Given the description of an element on the screen output the (x, y) to click on. 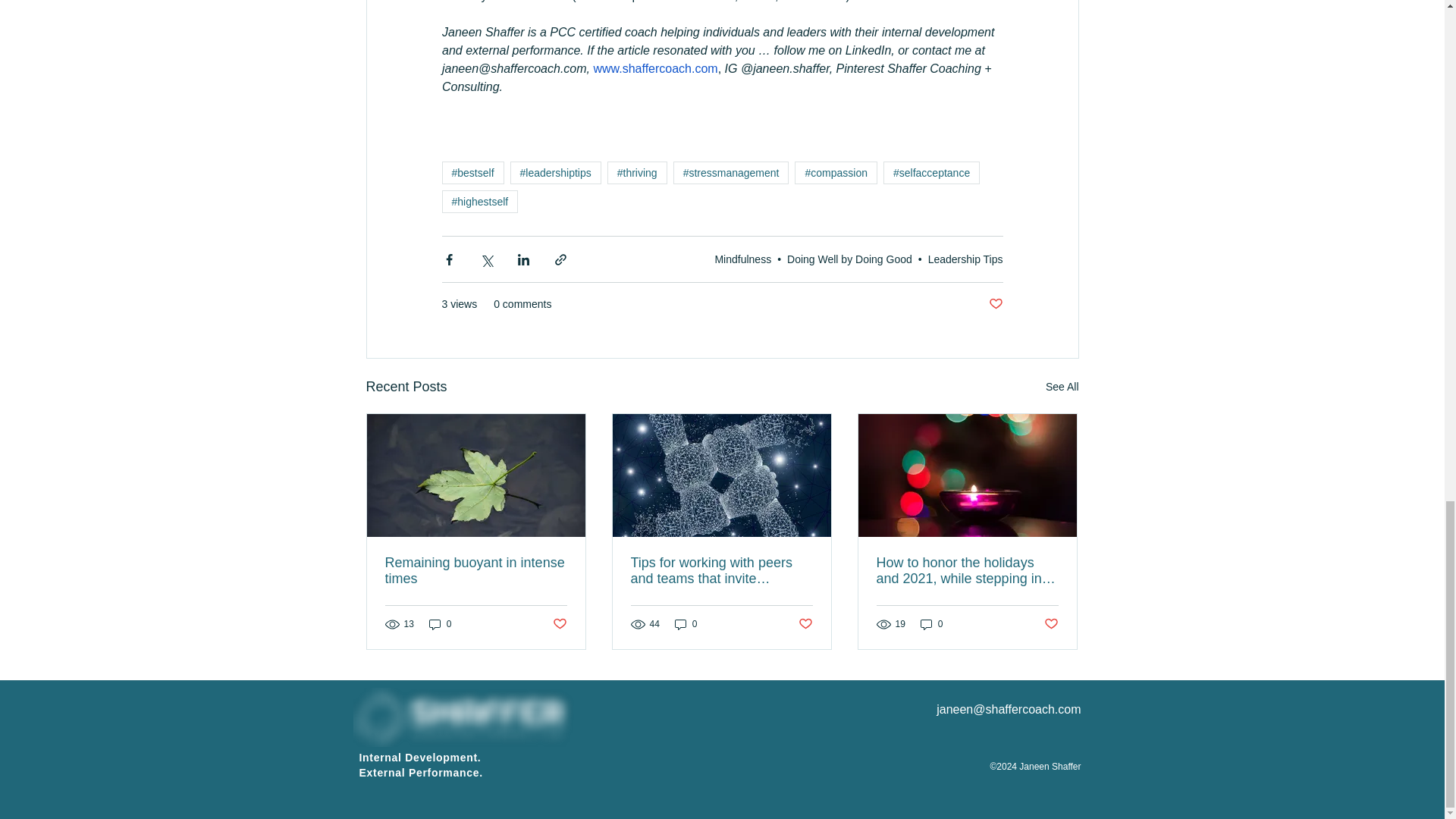
www.shaffercoach.com (654, 68)
See All (1061, 386)
Leadership Tips (965, 258)
Post not marked as liked (995, 304)
Mindfulness (742, 258)
Doing Well by Doing Good (849, 258)
